Given the description of an element on the screen output the (x, y) to click on. 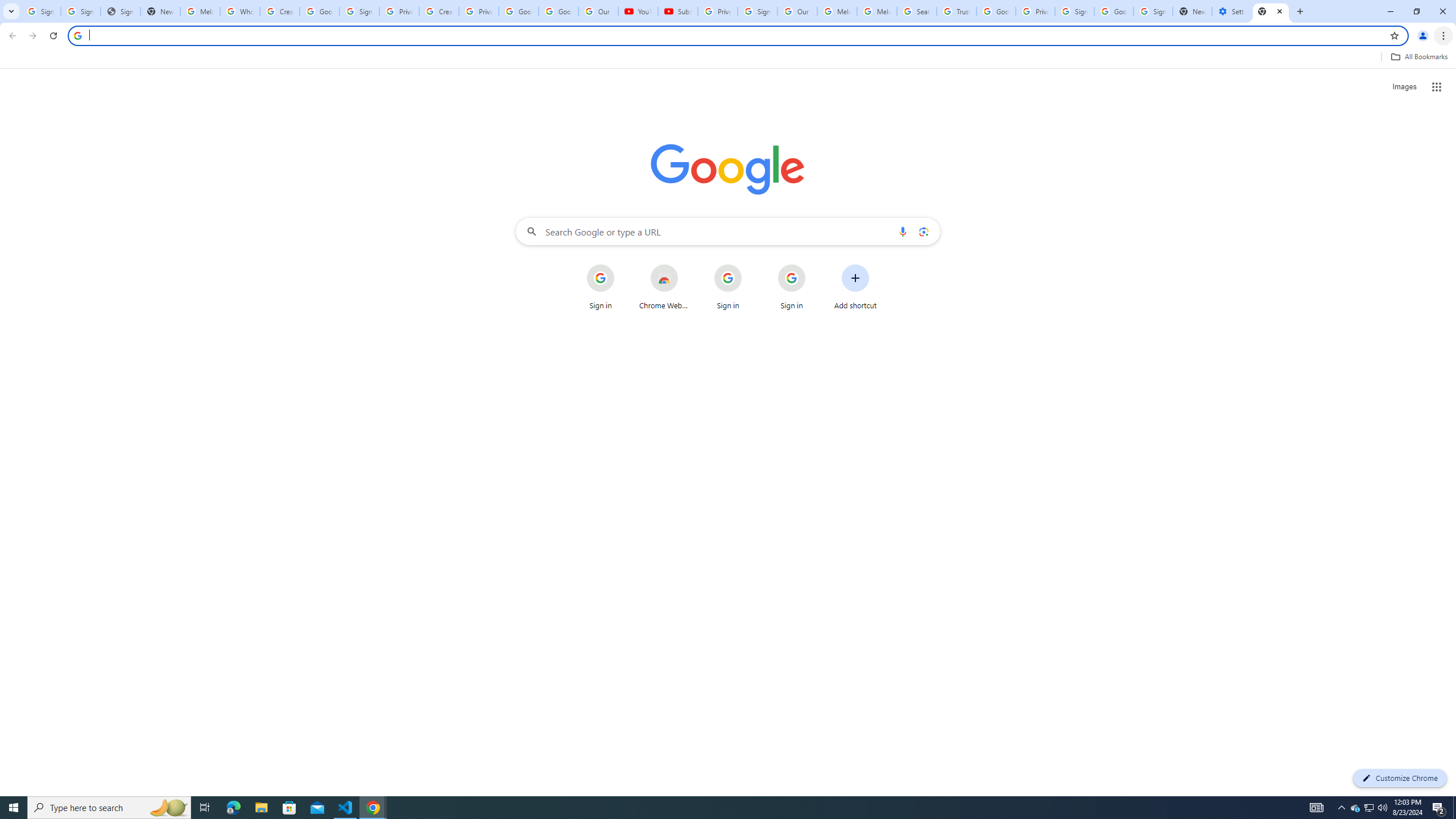
Sign in - Google Accounts (40, 11)
Search by image (922, 230)
More actions for Sign in shortcut (814, 265)
Customize Chrome (1399, 778)
YouTube (637, 11)
Settings - Addresses and more (1231, 11)
Create your Google Account (438, 11)
Bookmarks (728, 58)
